Given the description of an element on the screen output the (x, y) to click on. 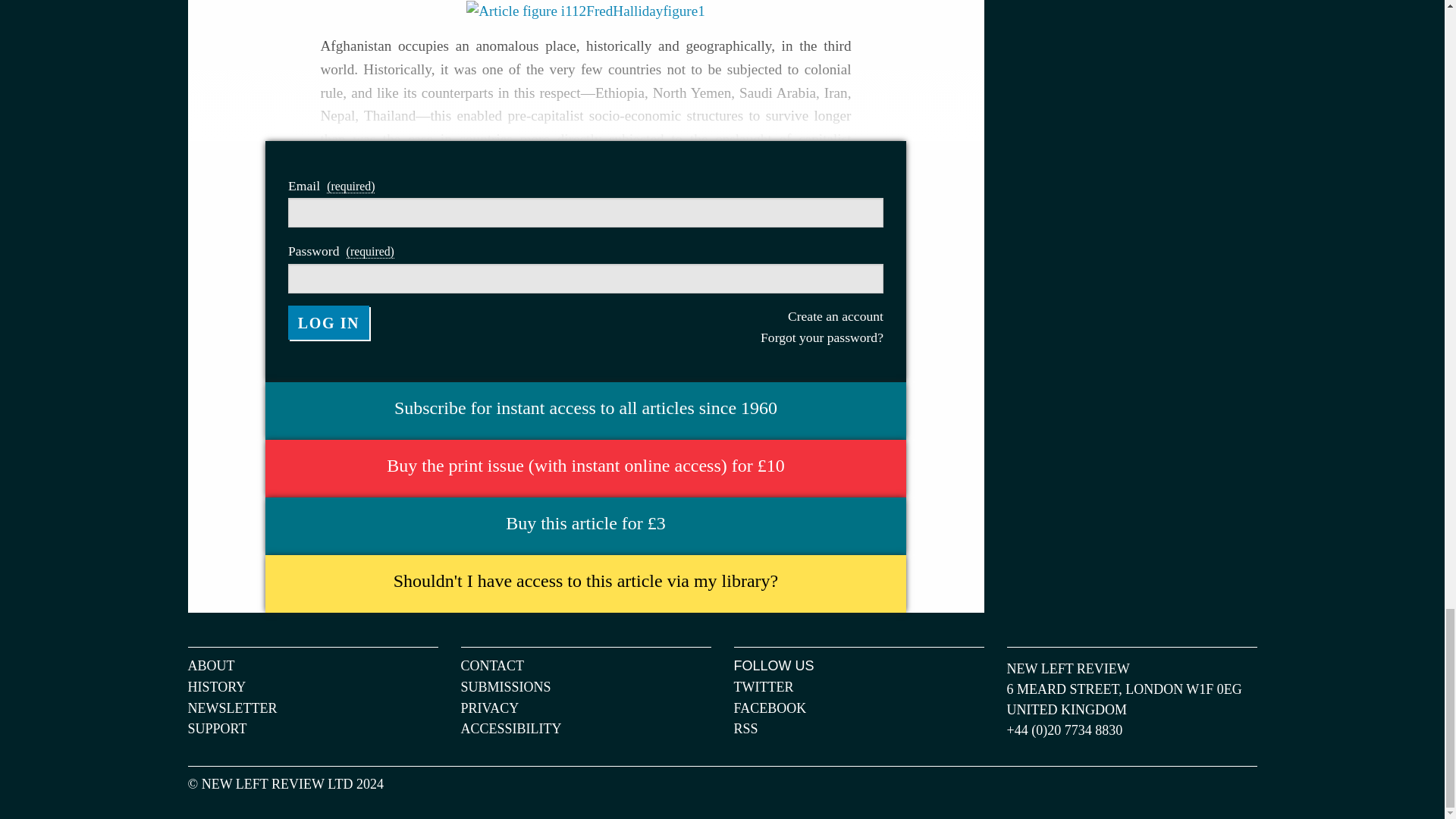
you must complete this field (370, 251)
Log in (328, 322)
Create an account (733, 315)
Shouldn't I have access to this article via my library? (585, 580)
Forgot your password? (733, 337)
Subscribe for instant access to all articles since 1960 (585, 407)
Log in (328, 322)
you must complete this field (350, 186)
